Given the description of an element on the screen output the (x, y) to click on. 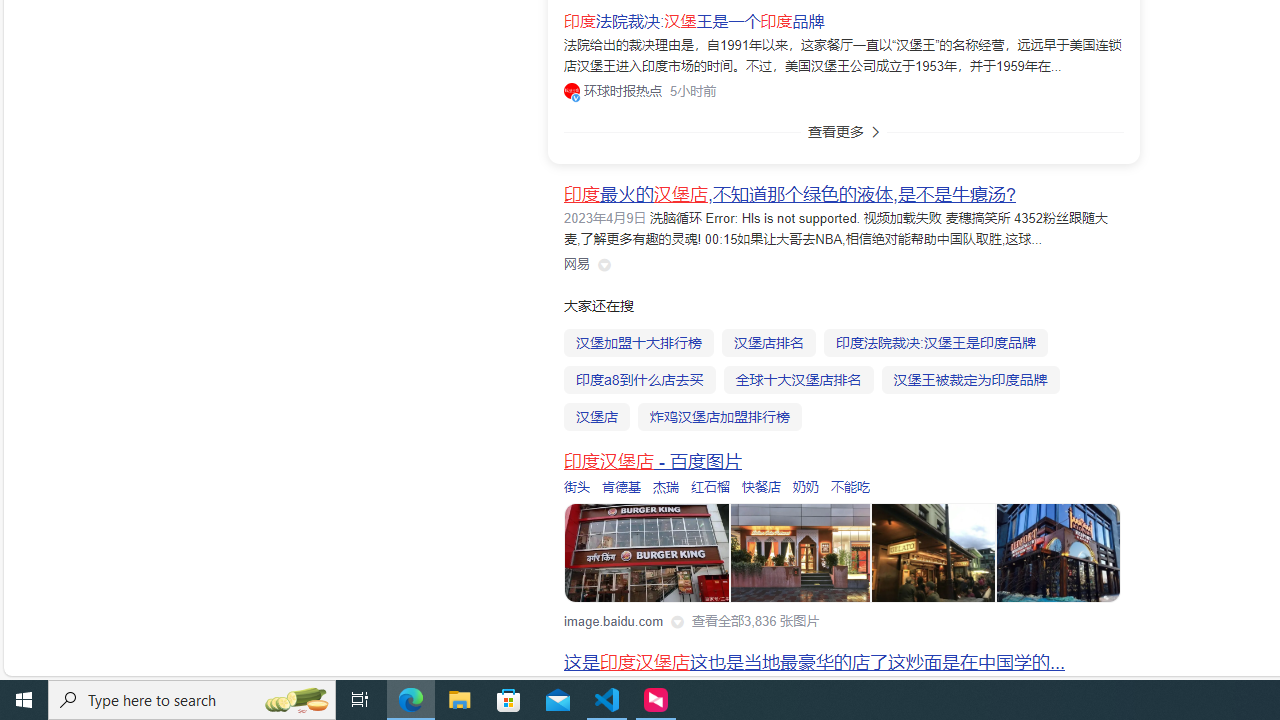
Class: siteLink_9TPP3 (577, 264)
